Given the description of an element on the screen output the (x, y) to click on. 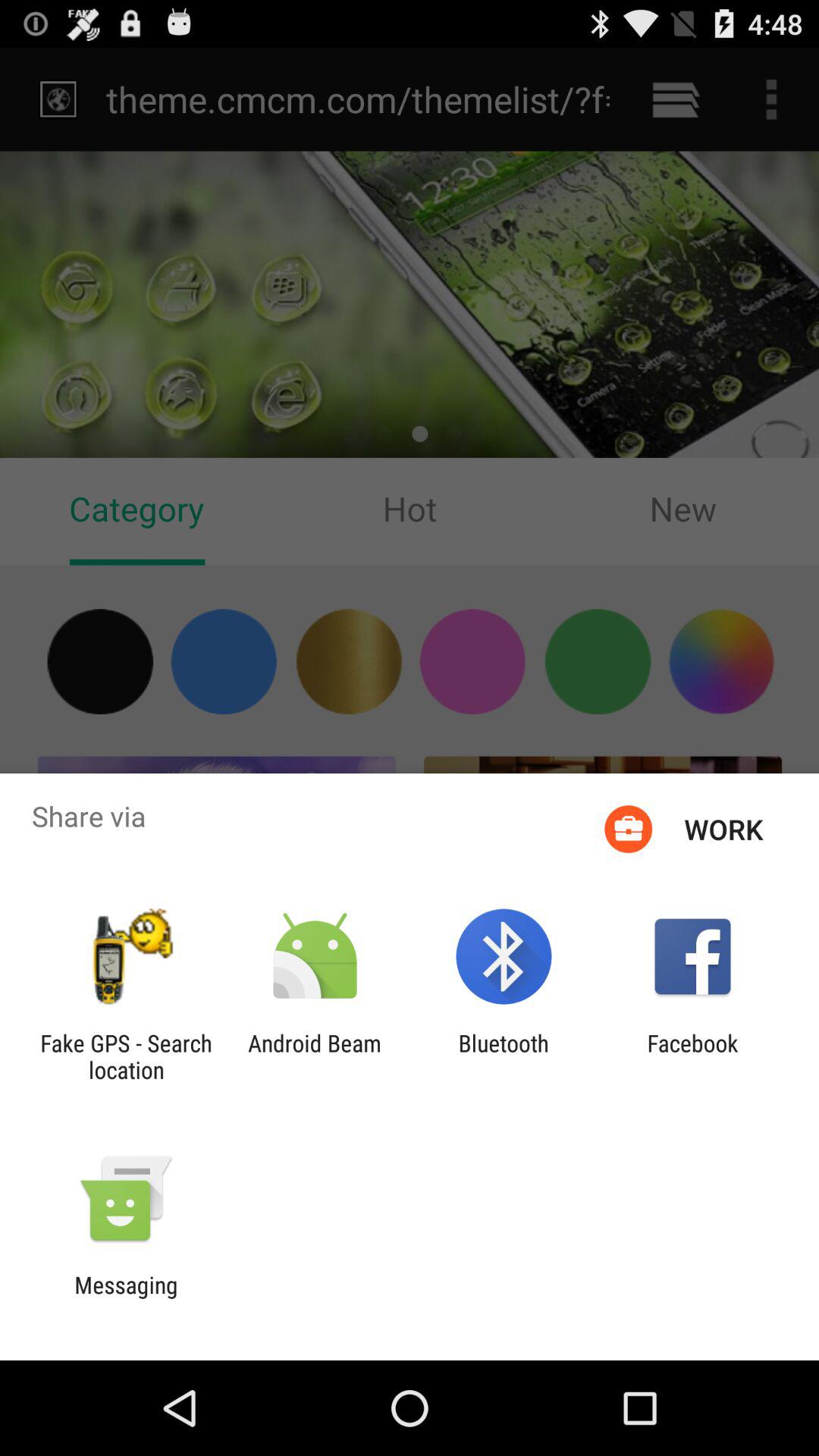
tap the item to the right of bluetooth app (692, 1056)
